Given the description of an element on the screen output the (x, y) to click on. 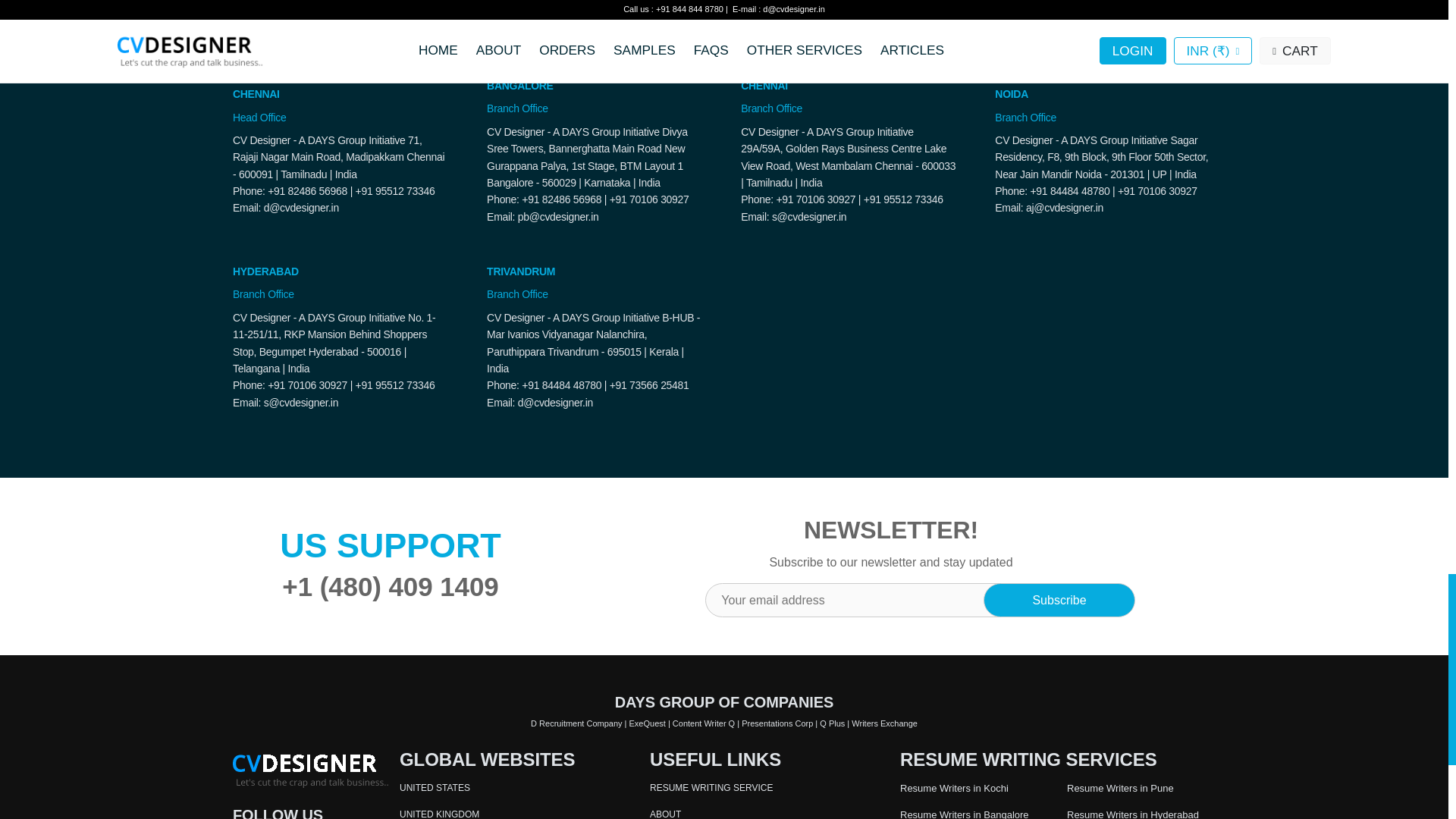
D Recruitment Company (576, 723)
Q Plus (831, 723)
Presentations Corp (776, 723)
Writers Exchange (884, 723)
Content Writer Q (703, 723)
Subscribe (1059, 600)
ExeQuest (646, 723)
